Given the description of an element on the screen output the (x, y) to click on. 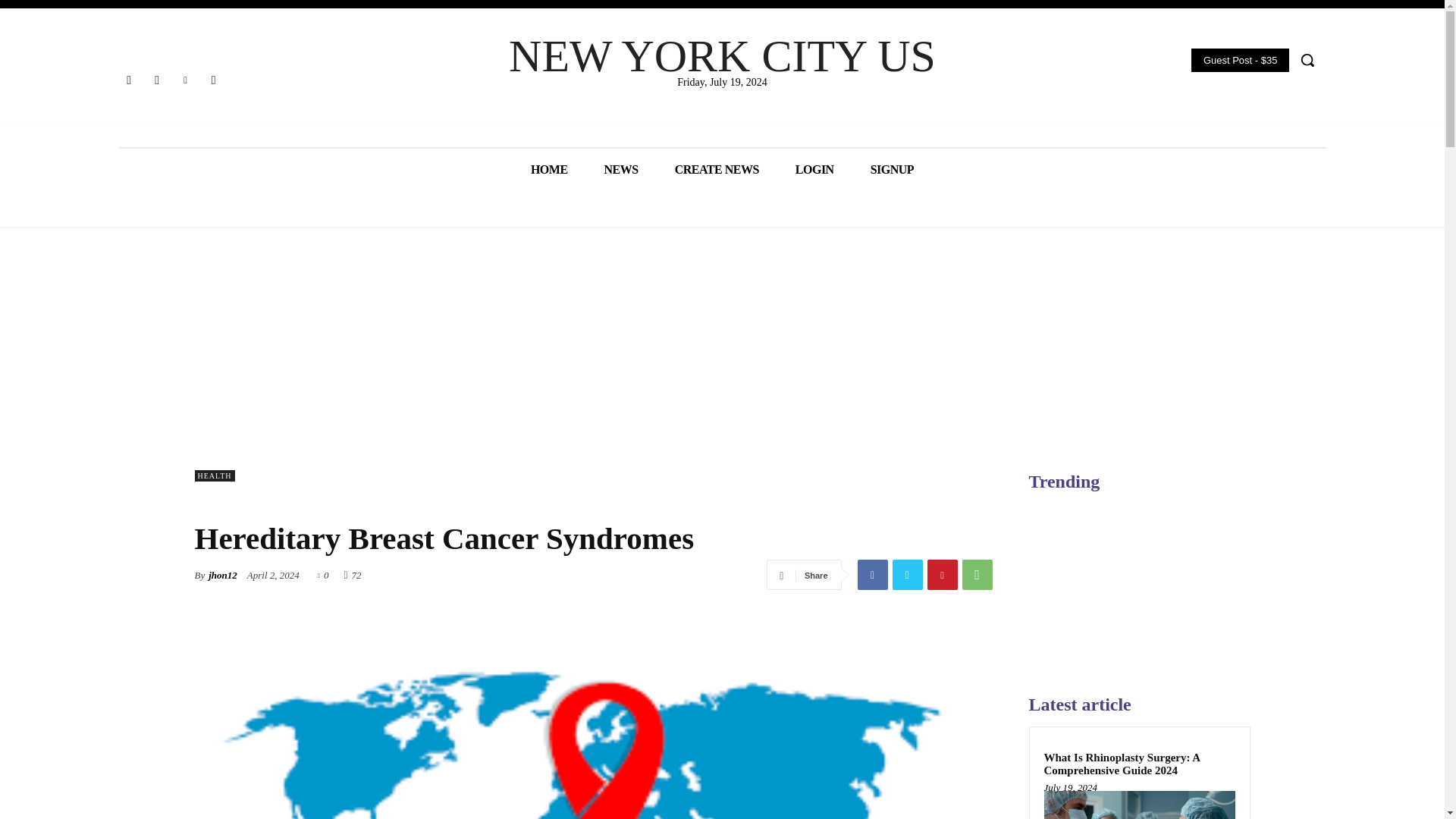
Instagram (157, 79)
Facebook (127, 79)
Facebook (871, 574)
Twitter (213, 79)
Twitter (906, 574)
WhatsApp (975, 574)
HOME (549, 169)
Pinterest (184, 79)
NEW YORK CITY US (721, 56)
NEWS (621, 169)
Pinterest (941, 574)
